Given the description of an element on the screen output the (x, y) to click on. 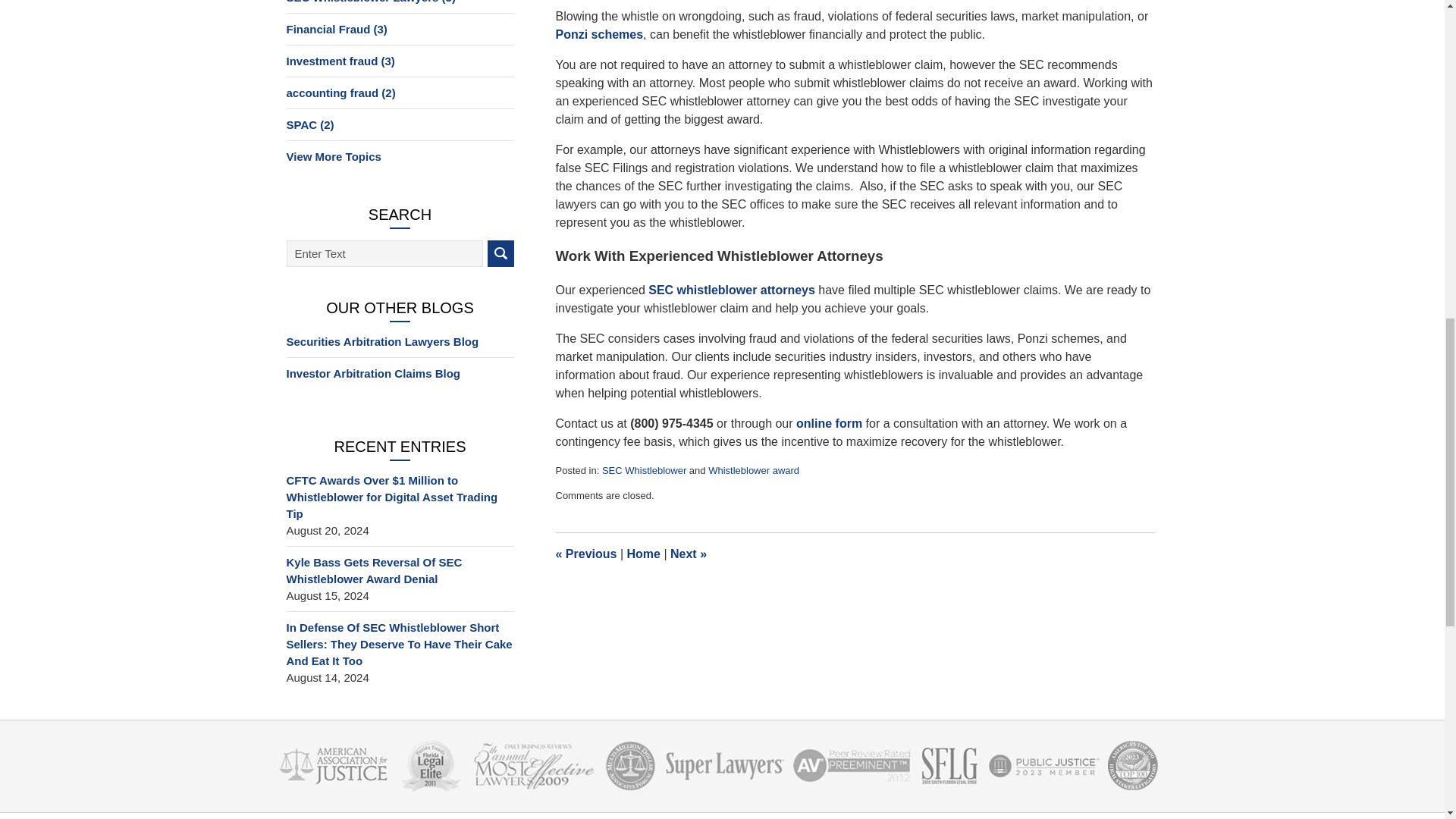
SEC whistleblower attorneys (731, 289)
Ponzi schemes (598, 33)
online form (828, 422)
View all posts in Whistleblower award (753, 470)
SEC Whistleblower (643, 470)
Home (642, 553)
Whistleblower award (753, 470)
View all posts in SEC Whistleblower (643, 470)
